Given the description of an element on the screen output the (x, y) to click on. 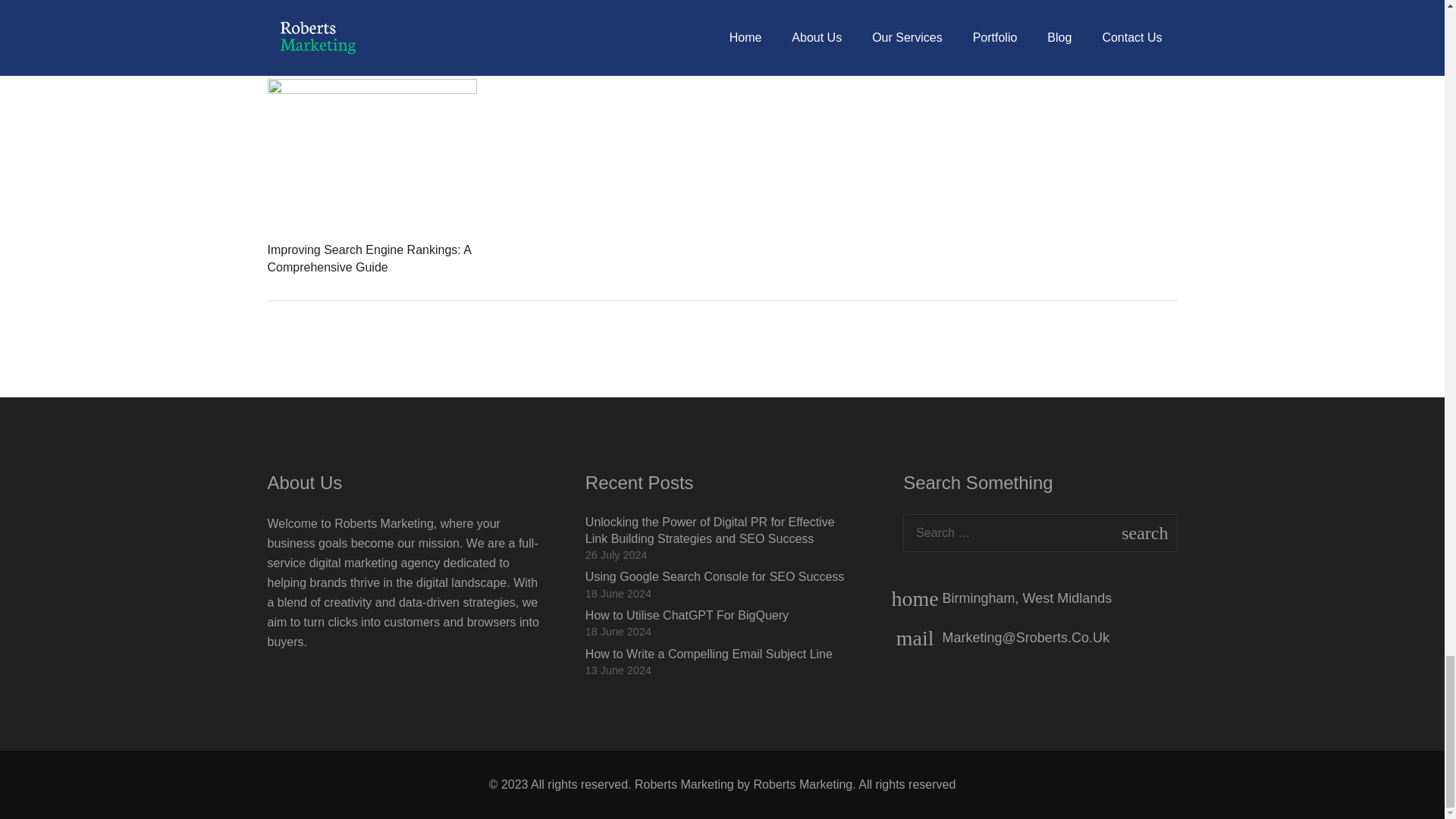
How to Write a Compelling Email Subject Line (708, 653)
Using Google Search Console for SEO Success (714, 576)
Roberts Marketing (803, 784)
How to Utilise ChatGPT For BigQuery (687, 615)
Search (1153, 532)
Improving Search Engine Rankings: A Comprehensive Guide (368, 257)
